Given the description of an element on the screen output the (x, y) to click on. 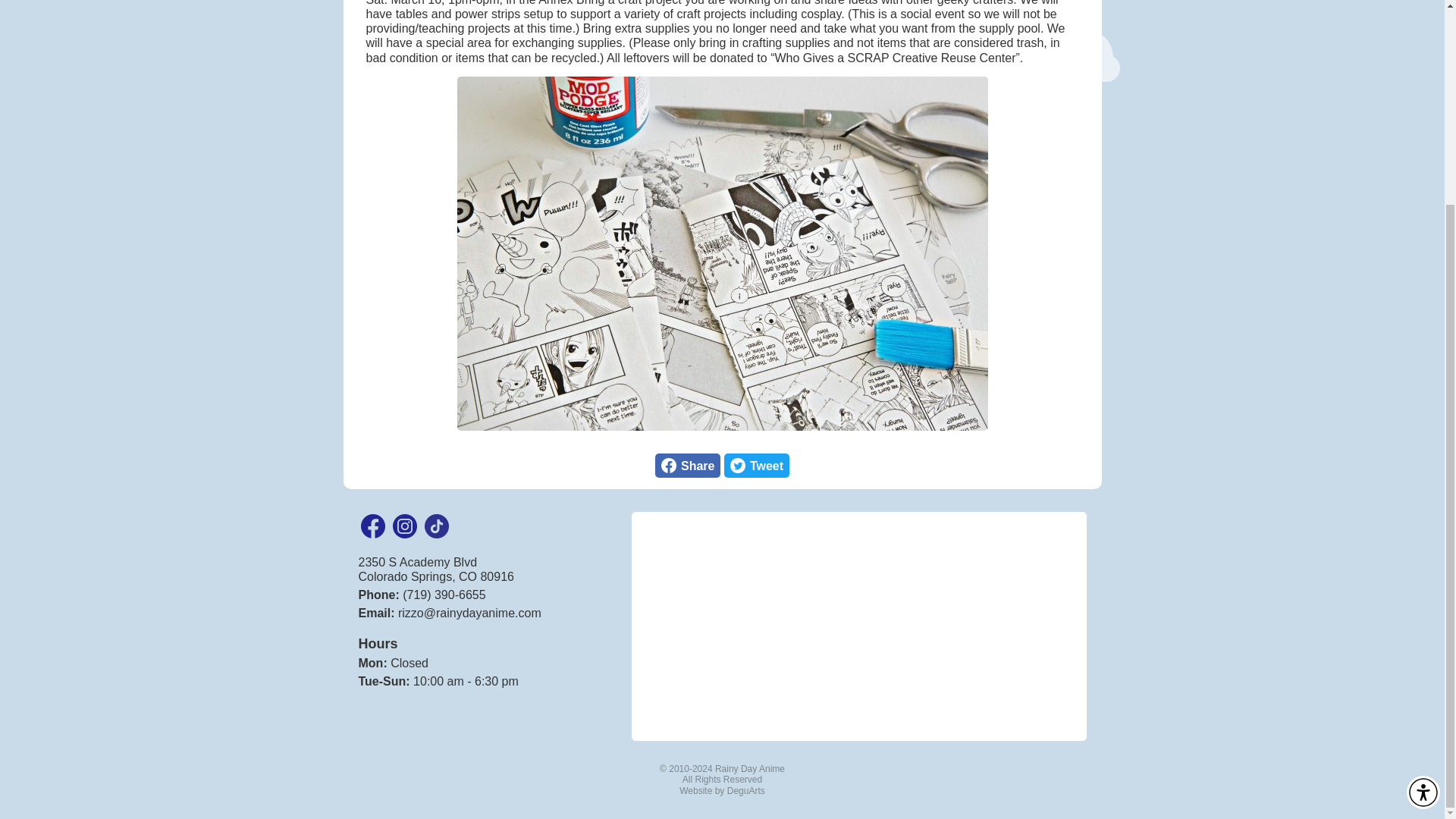
Accessibility Menu (687, 465)
